Given the description of an element on the screen output the (x, y) to click on. 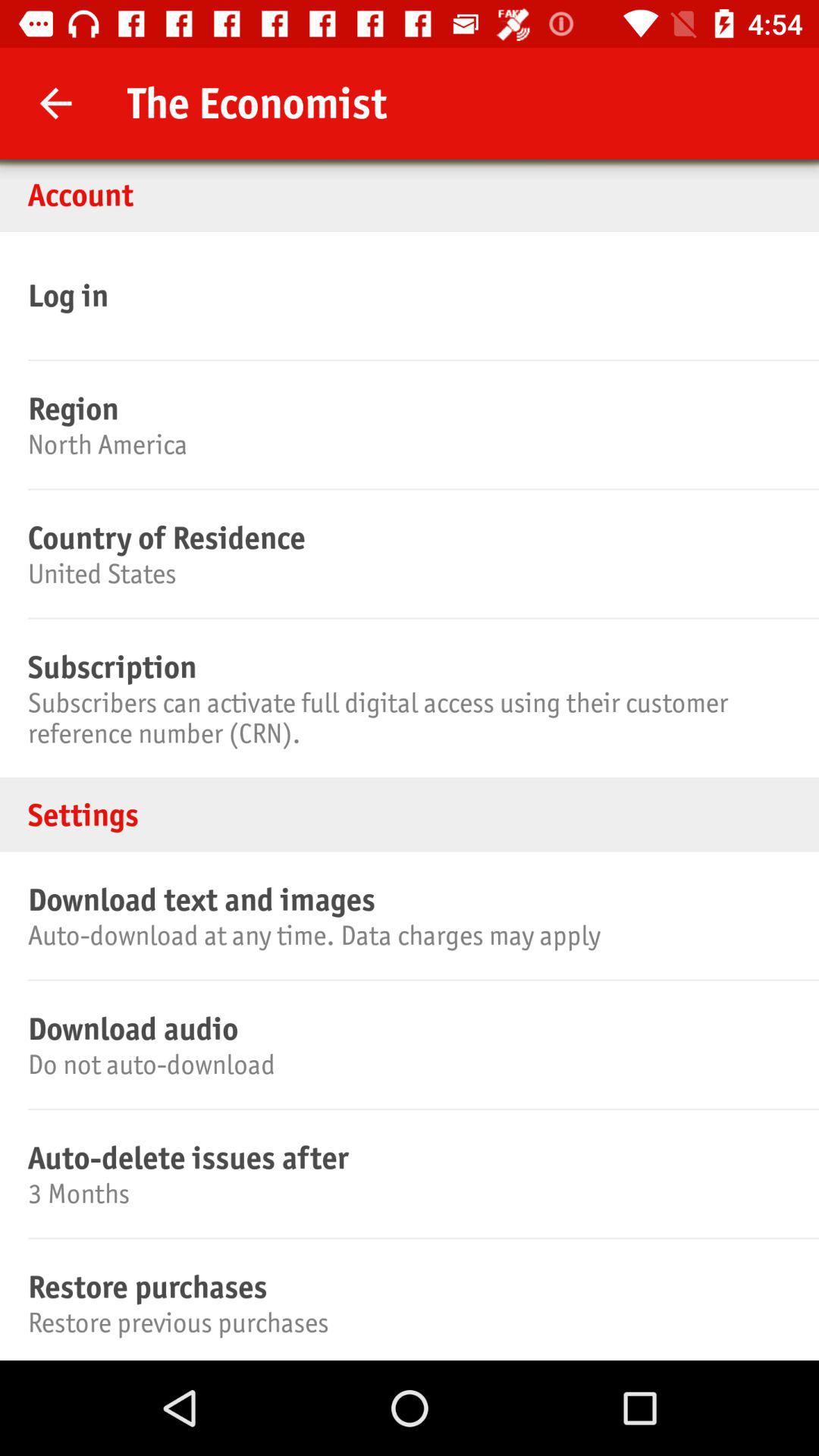
choose the north america item (407, 444)
